Given the description of an element on the screen output the (x, y) to click on. 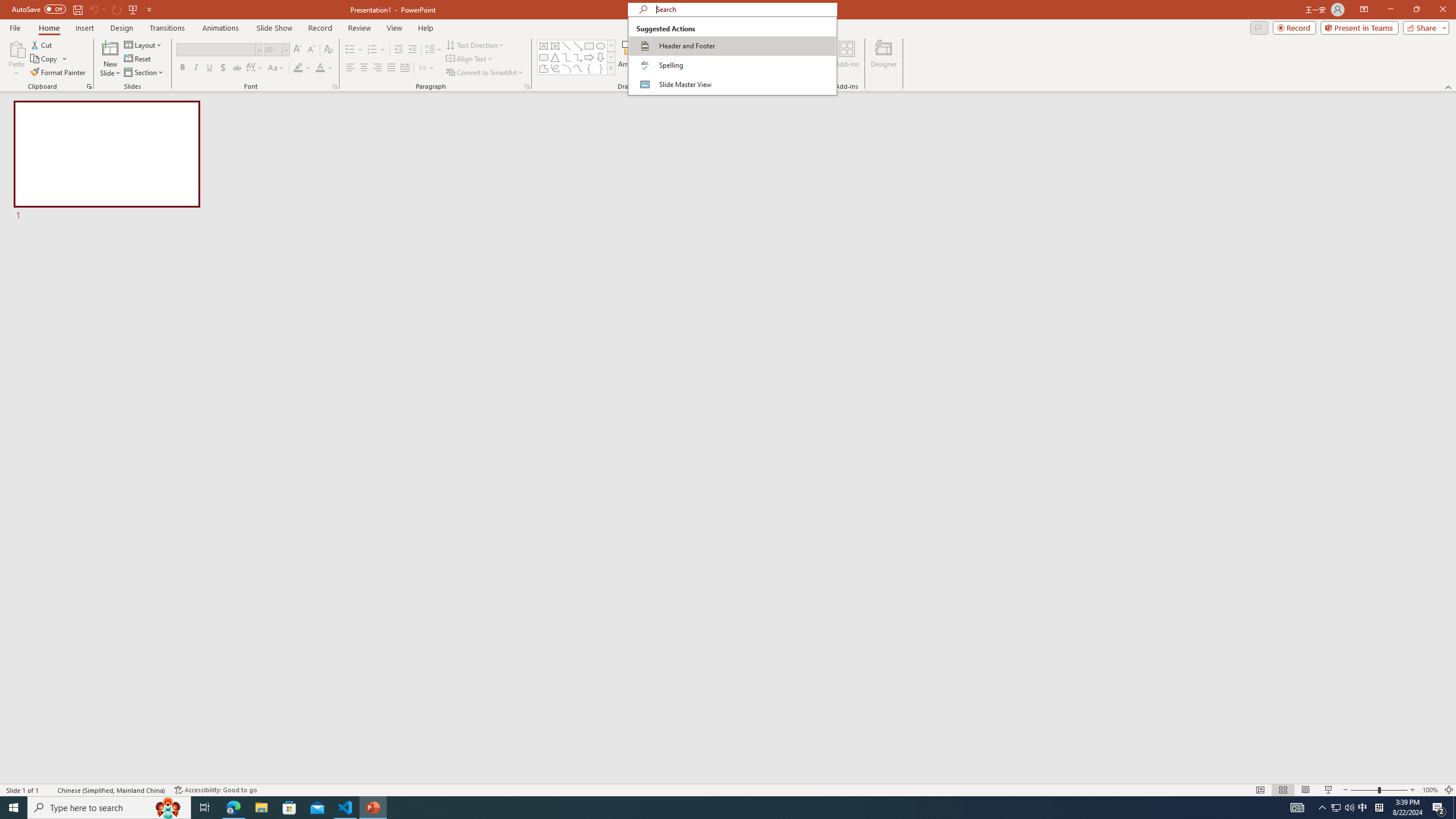
Spelling (731, 65)
